Given the description of an element on the screen output the (x, y) to click on. 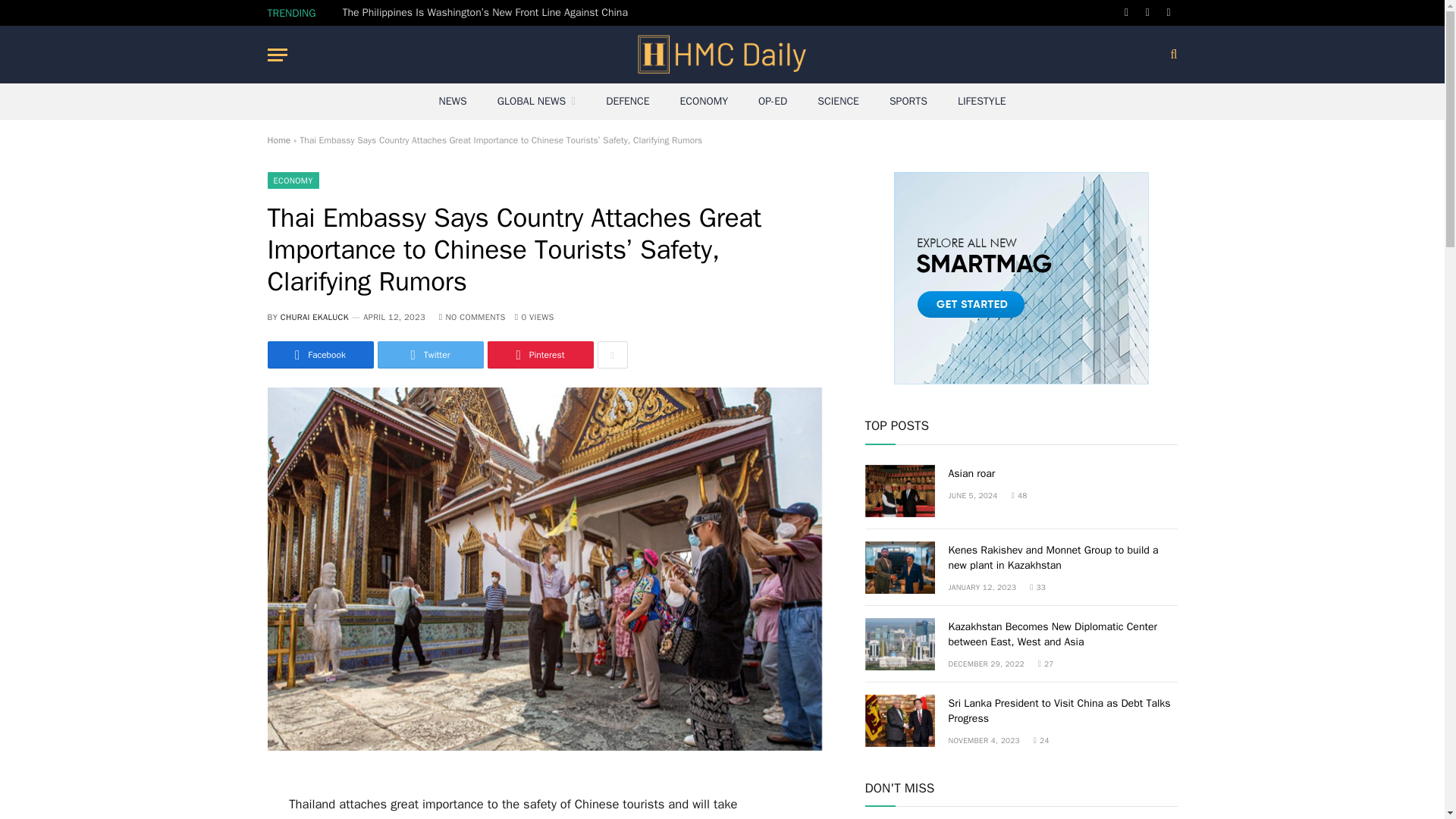
Share on Pinterest (539, 354)
HMC Daily (721, 54)
0 Article Views (534, 317)
Posts by Churai Ekaluck (315, 317)
Share on Facebook (319, 354)
